Given the description of an element on the screen output the (x, y) to click on. 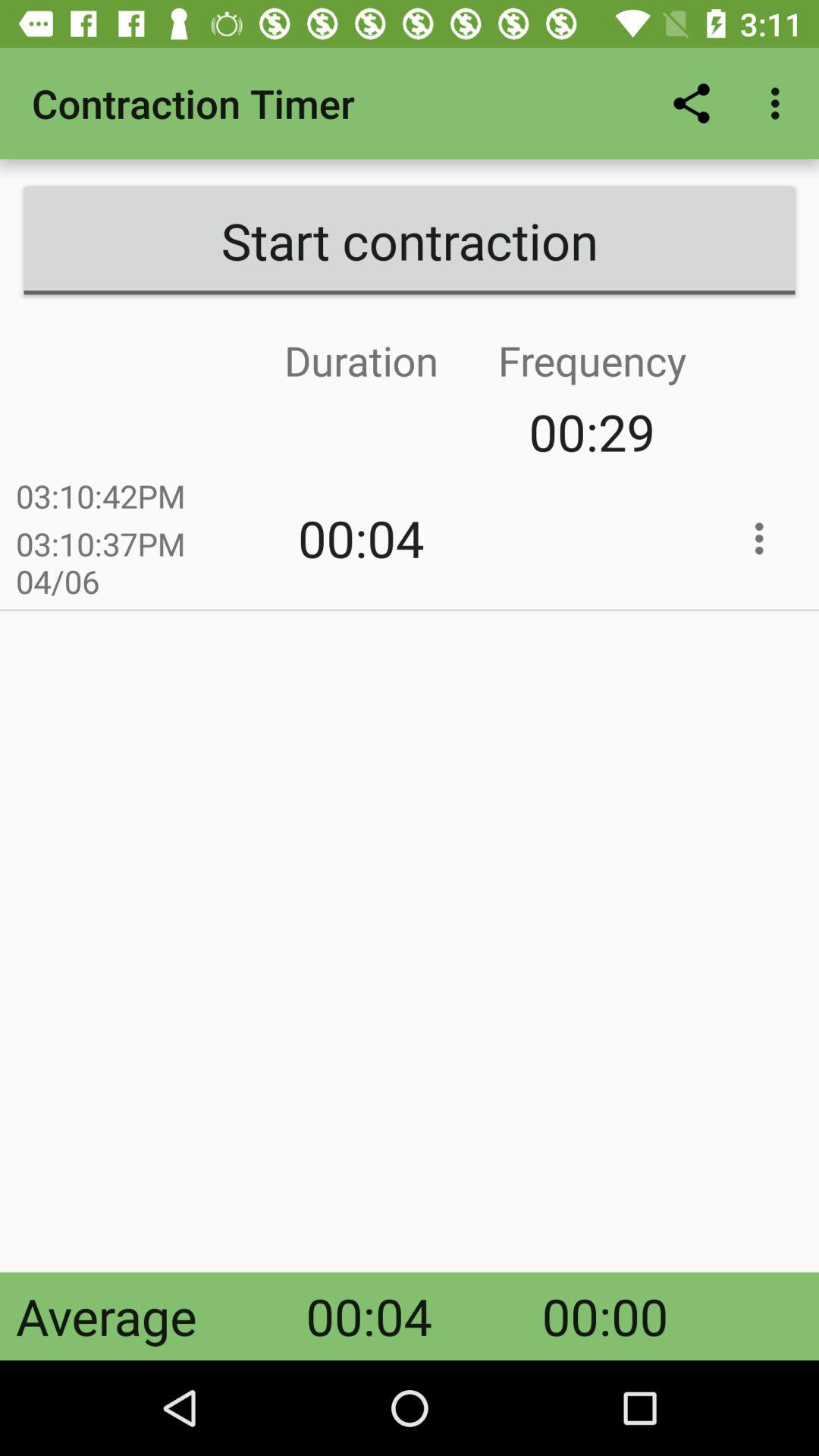
launch icon next to contraction timer (691, 103)
